Given the description of an element on the screen output the (x, y) to click on. 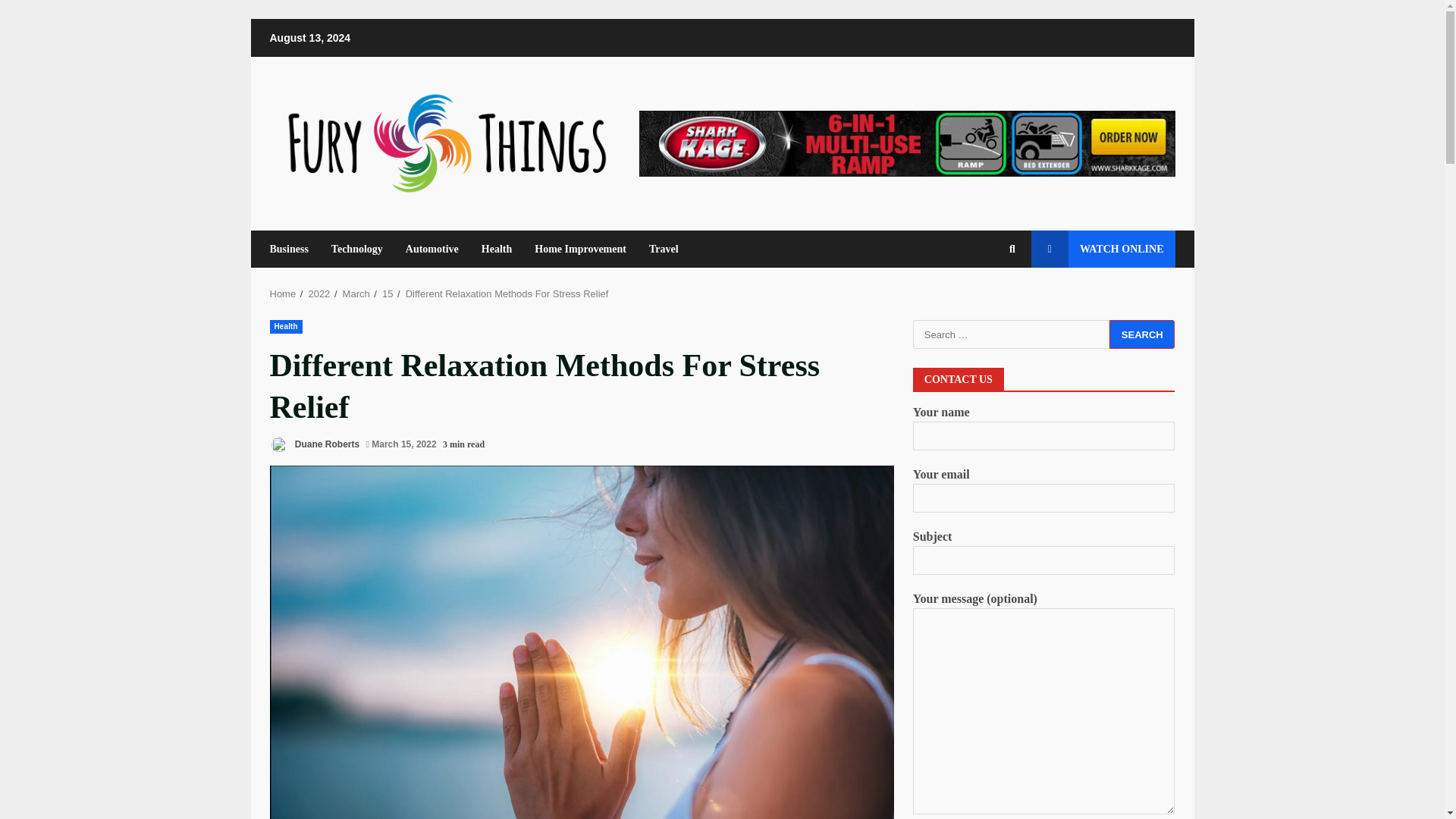
Duane Roberts (314, 444)
Search (1141, 334)
Technology (357, 248)
Search (984, 300)
2022 (318, 293)
Different Relaxation Methods For Stress Relief (507, 293)
Travel (657, 248)
WATCH ONLINE (1102, 248)
Health (285, 326)
